Given the description of an element on the screen output the (x, y) to click on. 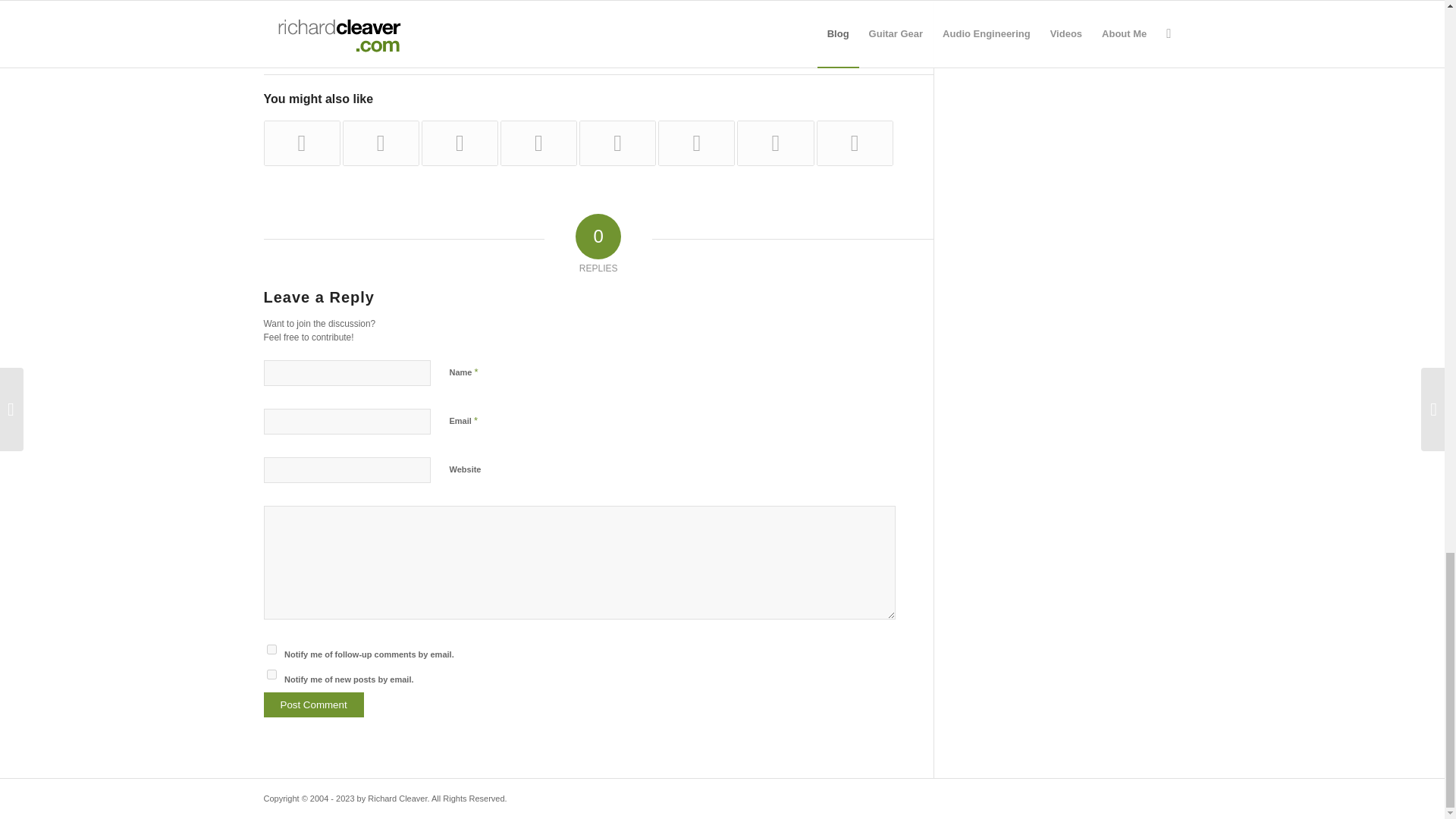
Another Day With A Mouse (459, 143)
The Gathering (301, 143)
Progress (538, 143)
How Much Is Enough? (617, 143)
Under Construction (380, 143)
Post Comment (313, 704)
subscribe (271, 674)
Post Comment (313, 704)
subscribe (271, 649)
Seafood Hazard (696, 143)
